Given the description of an element on the screen output the (x, y) to click on. 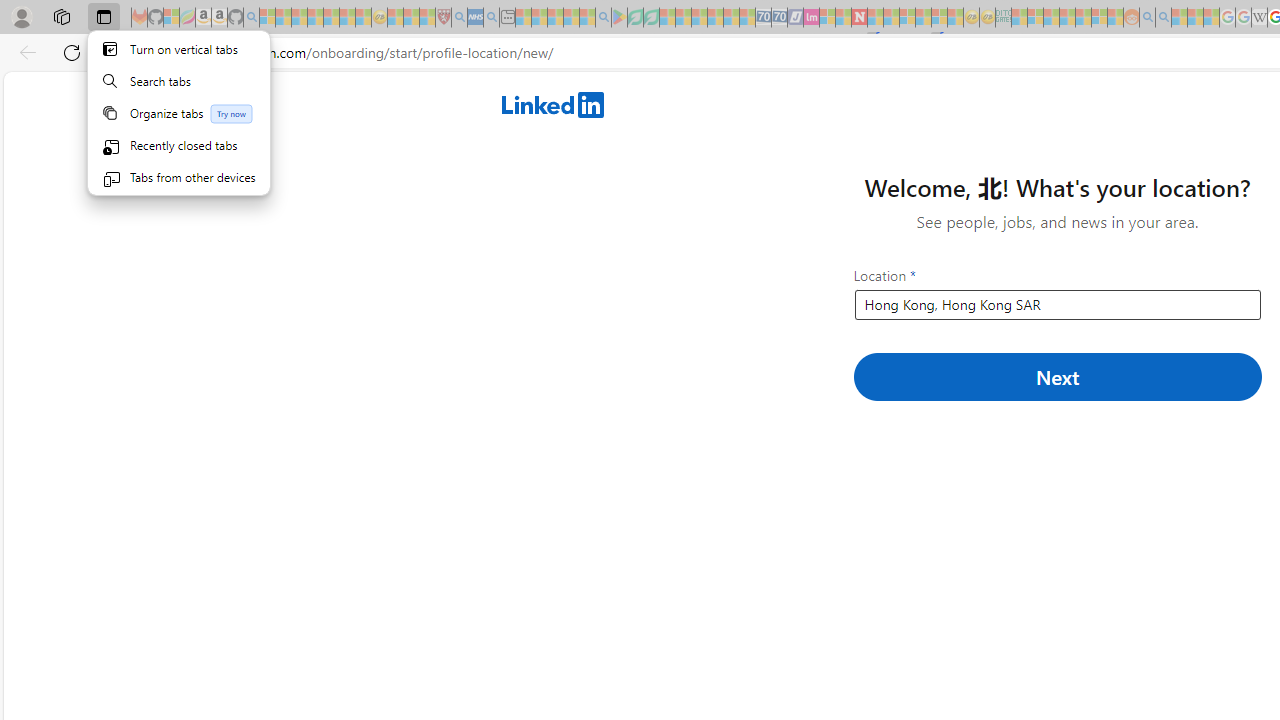
The Weather Channel - MSN - Sleeping (299, 17)
Tab Actions (179, 112)
google - Search - Sleeping (603, 17)
Target page - Wikipedia - Sleeping (1259, 17)
Search tabs (179, 80)
